Given the description of an element on the screen output the (x, y) to click on. 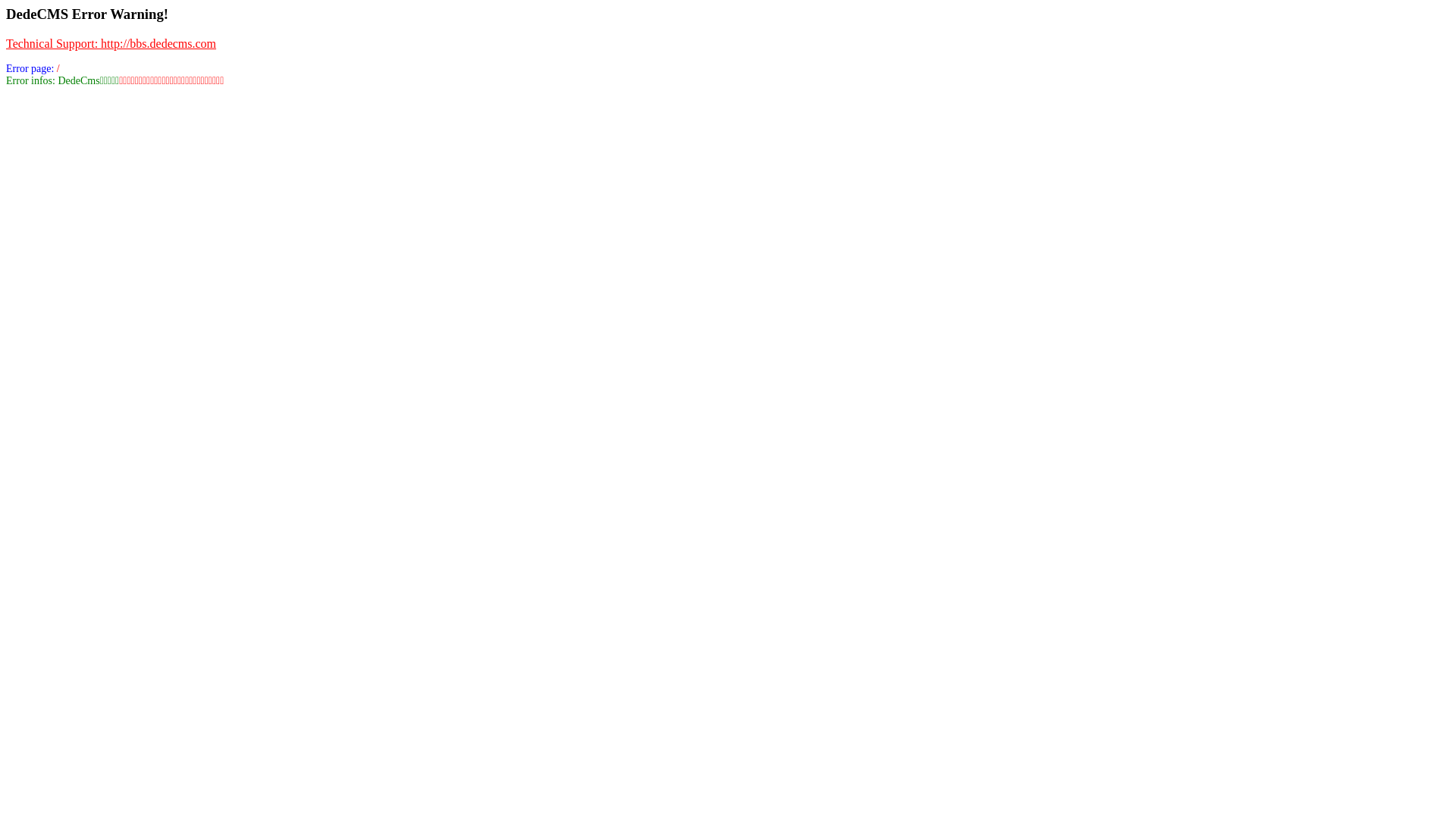
Technical Support: http://bbs.dedecms.com Element type: text (111, 43)
